Given the description of an element on the screen output the (x, y) to click on. 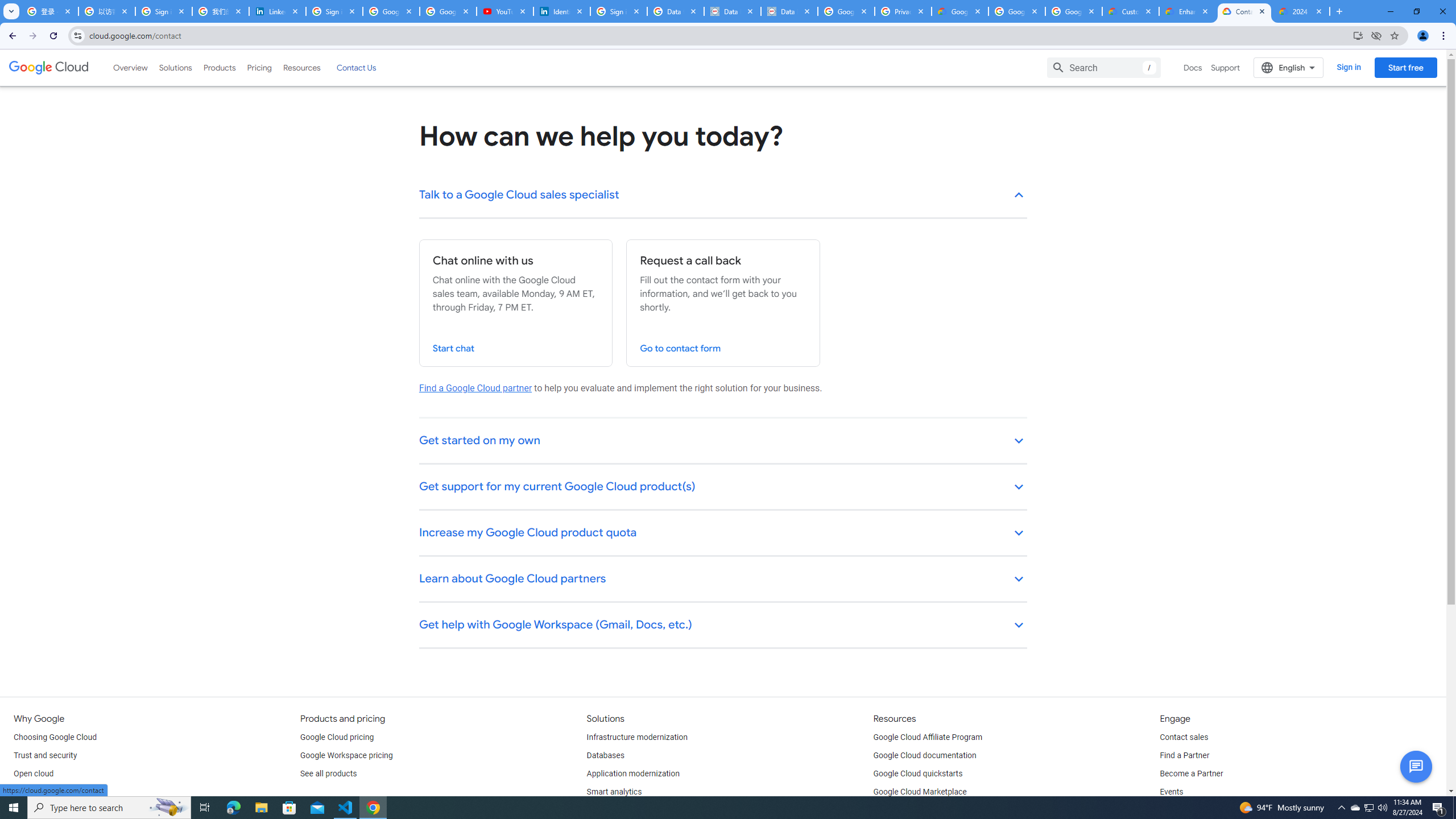
Button to activate chat (1416, 766)
Google Cloud Marketplace (919, 791)
Minimize (1390, 11)
Get started on my own keyboard_arrow_down (723, 441)
Databases (605, 755)
Solutions (175, 67)
Data Privacy Framework (731, 11)
Overview (130, 67)
